Given the description of an element on the screen output the (x, y) to click on. 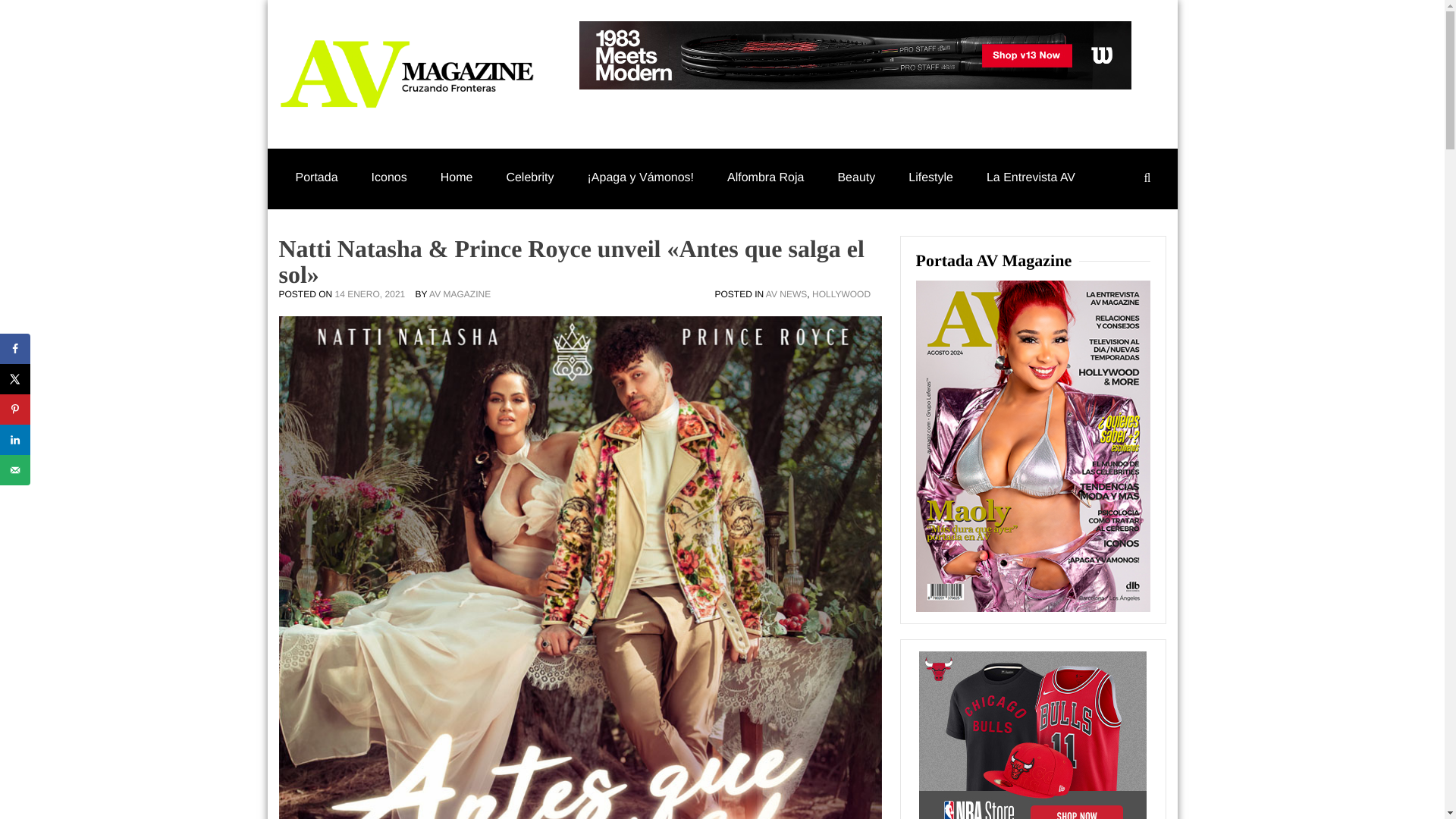
Portada (317, 178)
Beauty (856, 178)
HOLLYWOOD (841, 294)
Home (456, 178)
Share on X (15, 378)
Alfombra Roja (765, 178)
Iconos (389, 178)
Share on Facebook (15, 348)
AV MAGAZINE (459, 294)
14 ENERO, 2021 (373, 294)
